Given the description of an element on the screen output the (x, y) to click on. 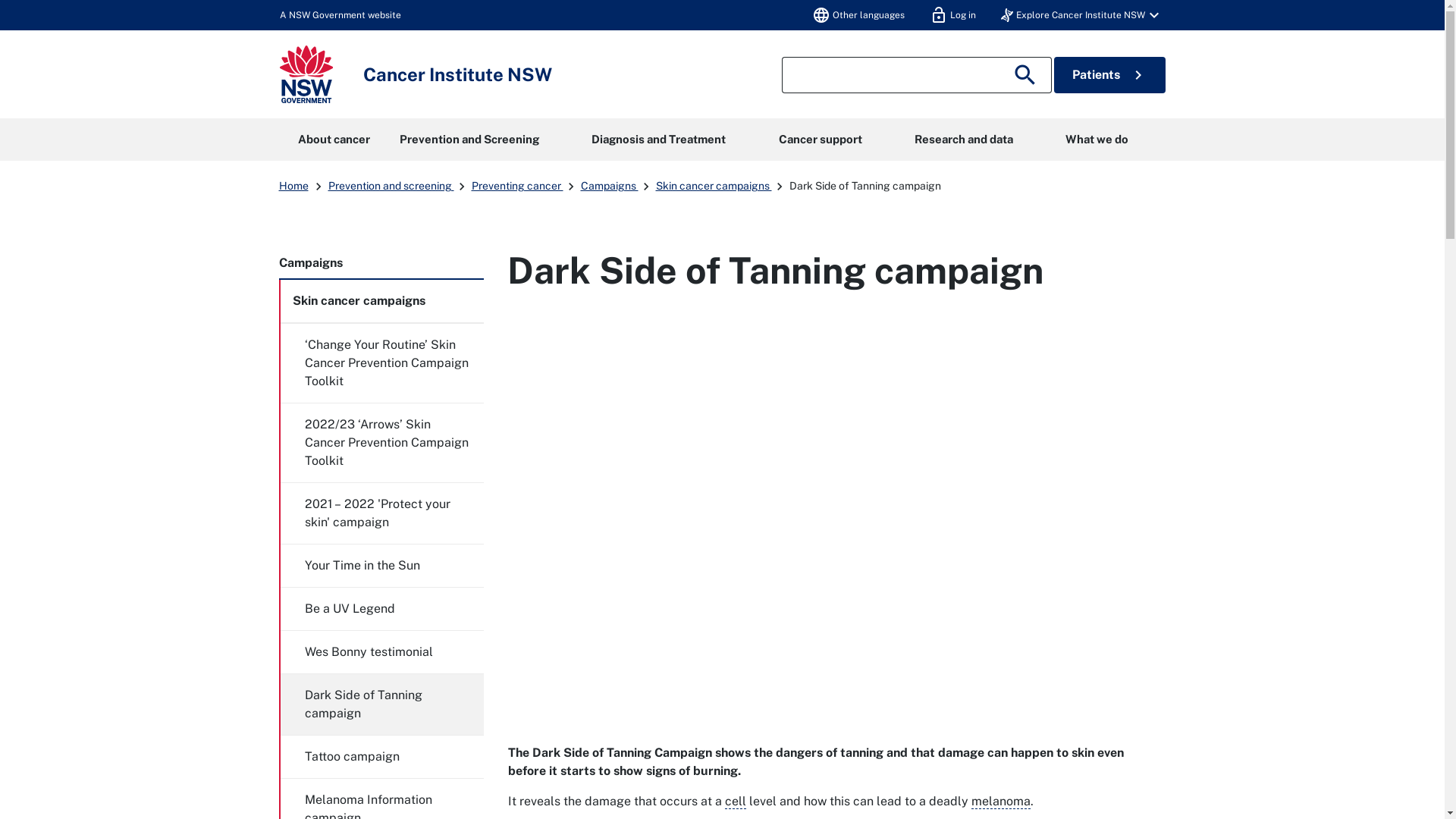
Skin cancer campaigns Element type: text (713, 185)
Explore Cancer Institute NSW
expand_more Element type: text (1082, 15)
What we do Element type: text (1096, 139)
Boy playing footy Element type: hover (834, 506)
Prevention and screening Element type: text (390, 185)
Preventing cancer Element type: text (517, 185)
Dark Side of Tanning campaign Element type: text (864, 185)
Campaigns Element type: text (381, 262)
Tattoo campaign Element type: text (381, 756)
Your Time in the Sun Element type: text (381, 565)
Patients chevron_right Element type: text (1109, 74)
Research and data Element type: text (963, 139)
Campaigns Element type: text (609, 185)
Home Element type: text (293, 185)
lock_open
Log in Element type: text (952, 15)
NSW Government Element type: text (305, 74)
Dark Side of Tanning campaign Element type: text (381, 704)
Be a UV Legend Element type: text (381, 608)
Skin cancer campaigns Element type: text (381, 300)
Cancer support Element type: text (820, 139)
Wes Bonny testimonial Element type: text (381, 651)
Diagnosis and Treatment Element type: text (658, 139)
search
Search Element type: text (1028, 74)
About cancer Element type: text (333, 139)
language
Other languages Element type: text (857, 15)
Prevention and Screening Element type: text (468, 139)
